Given the description of an element on the screen output the (x, y) to click on. 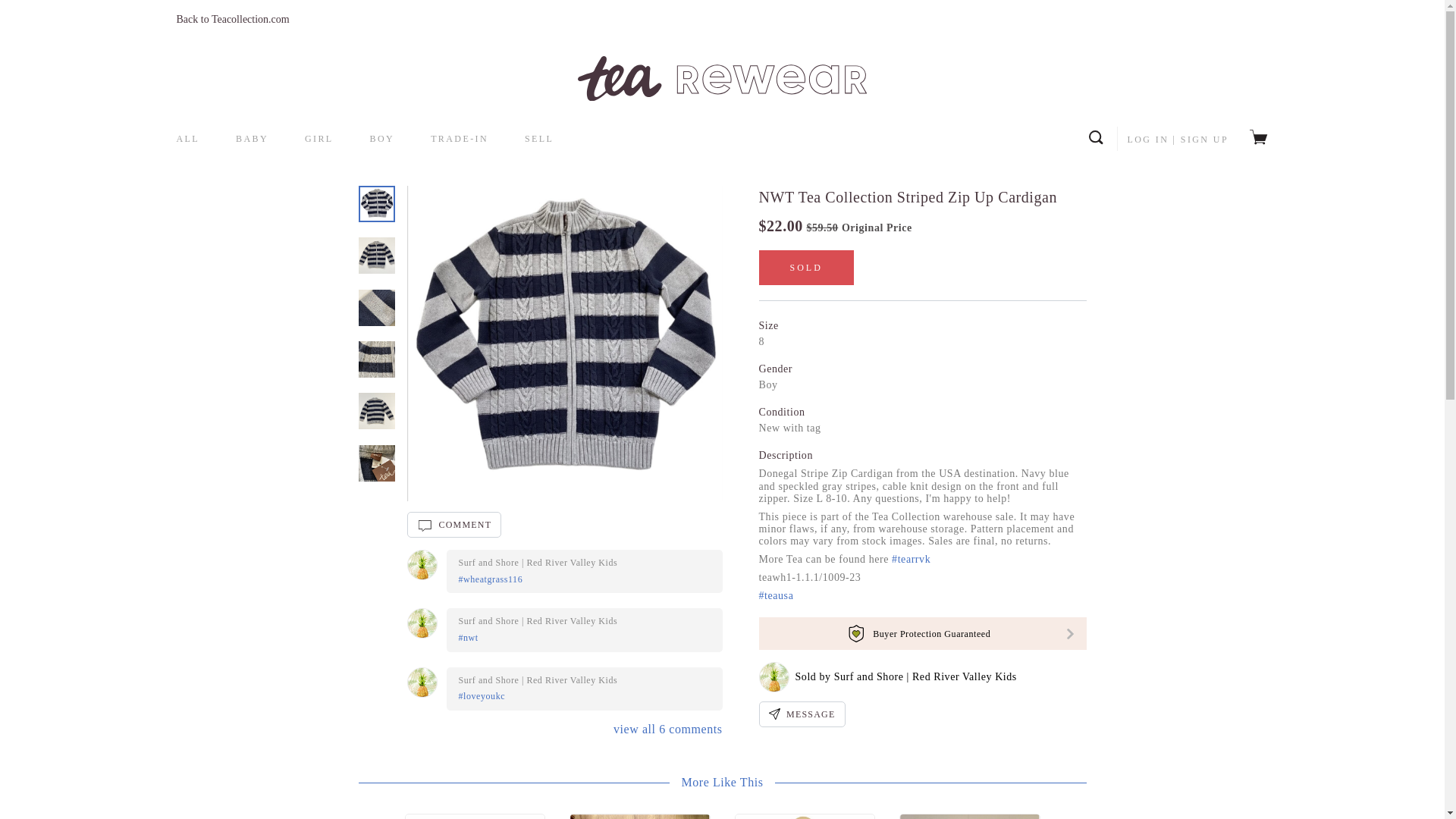
view all 6 comments (667, 728)
SIGN UP (1204, 139)
Buyer Protection Guaranteed (922, 633)
MESSAGE (801, 714)
LOG IN (1147, 139)
BABY (251, 138)
Back to Teacollection.com (232, 19)
COMMENT (453, 524)
TRADE-IN (458, 138)
SELL (538, 138)
ALL (187, 138)
GIRL (318, 138)
BOY (381, 138)
